Given the description of an element on the screen output the (x, y) to click on. 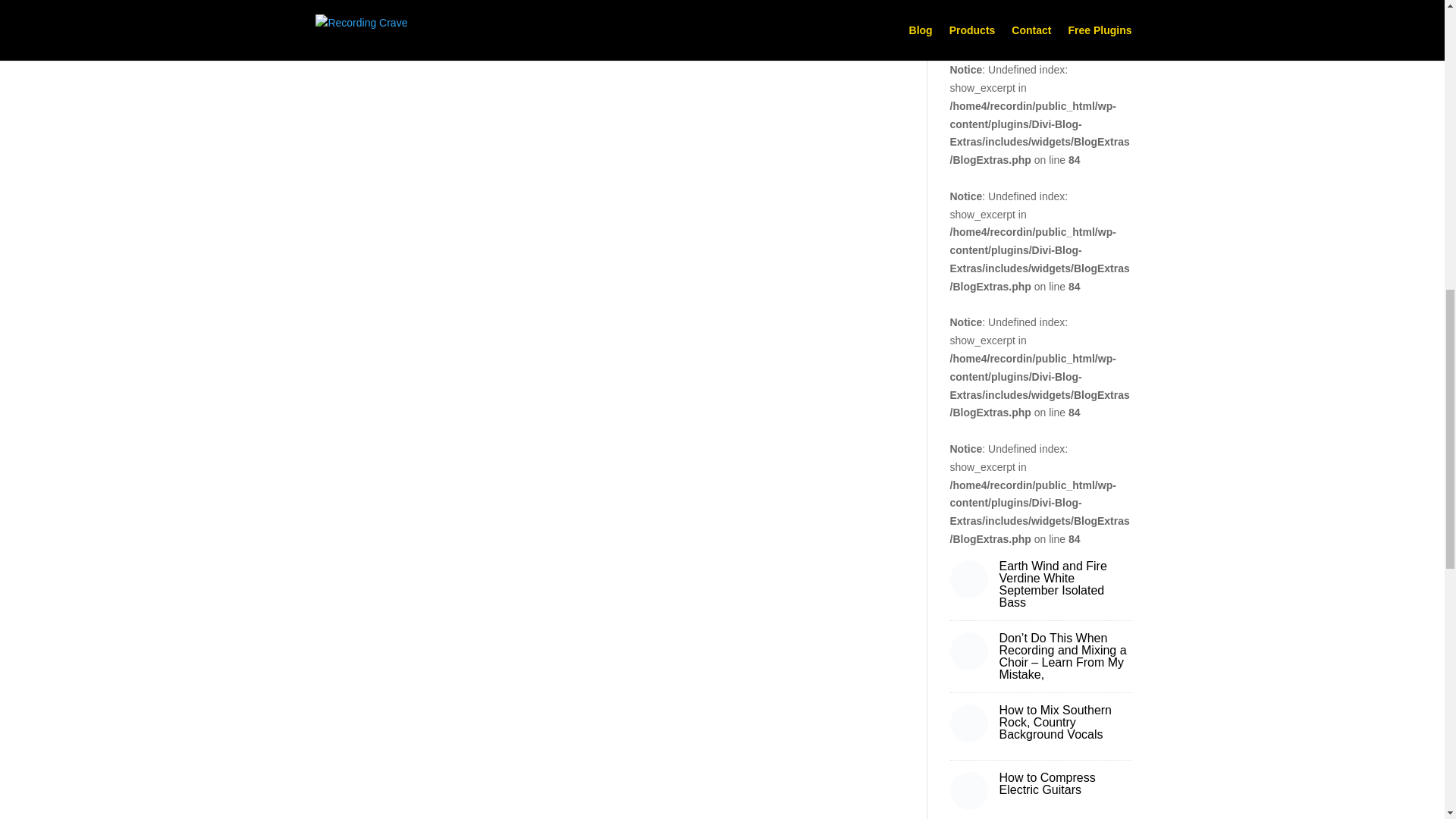
How to Mix Southern Rock, Country Background Vocals (1055, 722)
Earth Wind and Fire Verdine White September Isolated Bass (1052, 584)
How to Compress Electric Guitars (1047, 783)
